Given the description of an element on the screen output the (x, y) to click on. 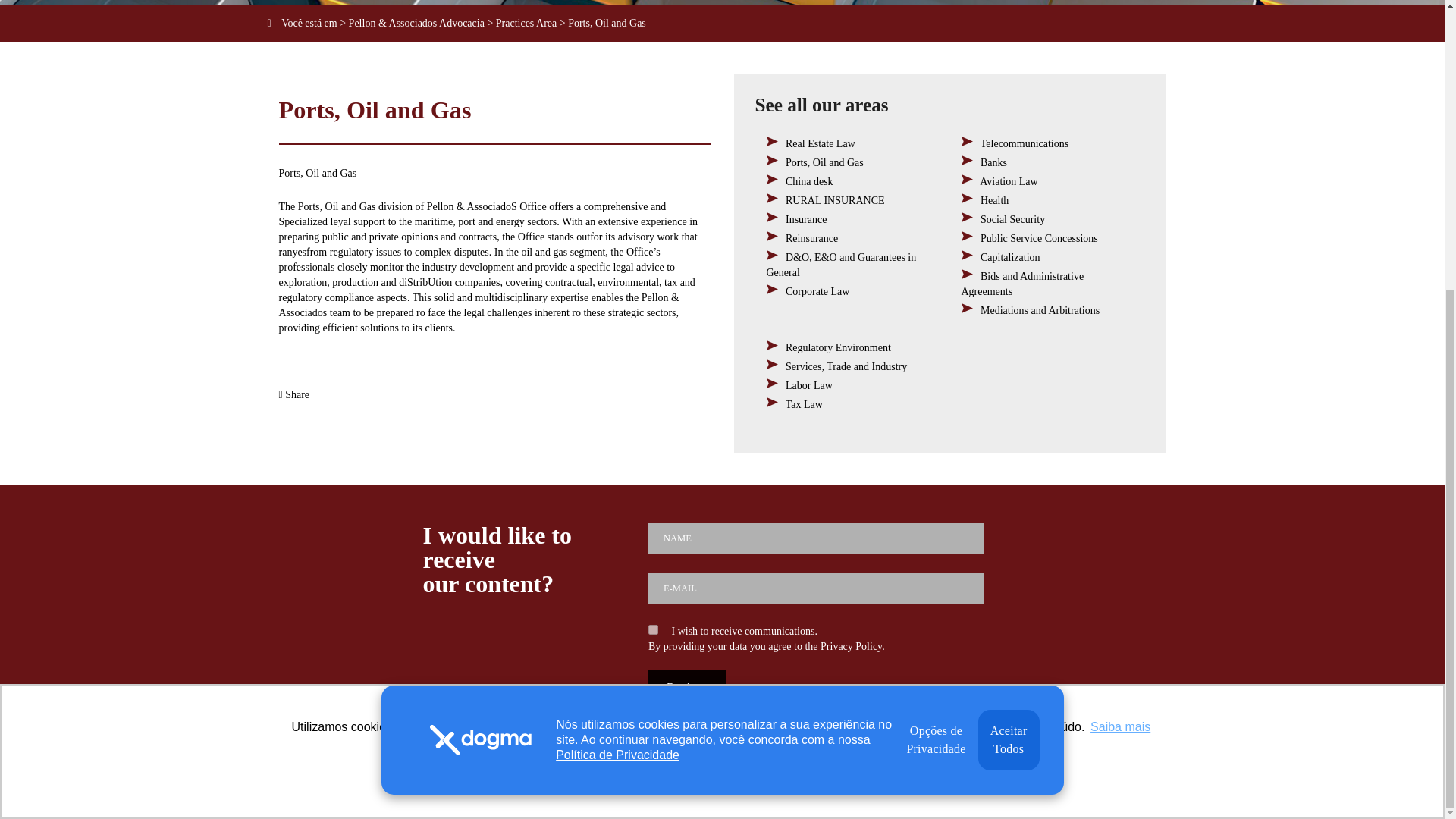
Aviation Law (1007, 181)
1 (652, 629)
China desk (809, 181)
Reinsurance (812, 238)
Recusar Cookies (665, 329)
Saiba mais (1120, 284)
Register (686, 687)
Health (994, 200)
RURAL INSURANCE (835, 200)
Aceitar Cookies (779, 329)
Telecommunications (1023, 143)
Social Security (1012, 219)
Real Estate Law (821, 143)
Insurance (806, 219)
Banks (993, 162)
